Given the description of an element on the screen output the (x, y) to click on. 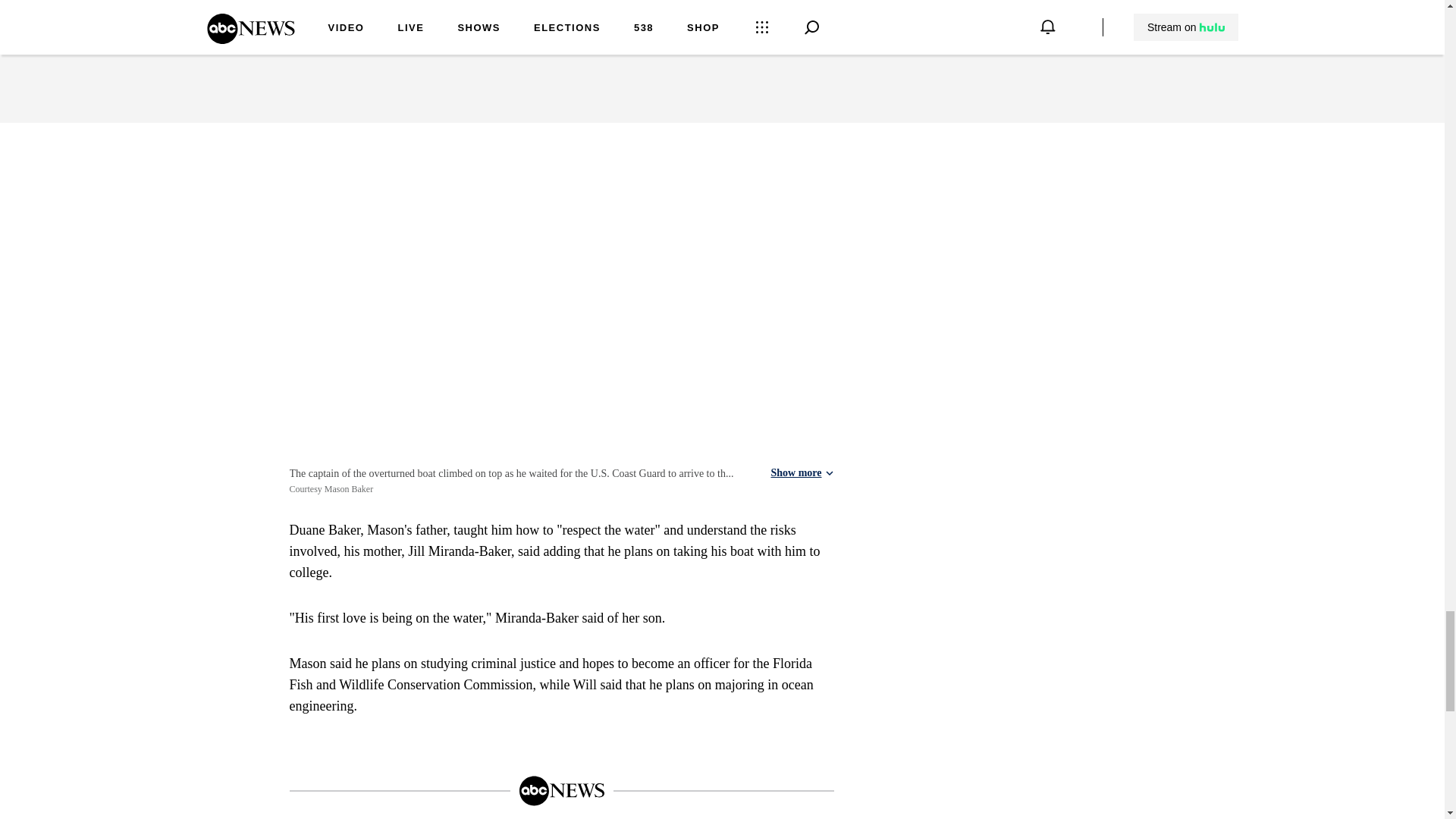
Show more (801, 472)
